Given the description of an element on the screen output the (x, y) to click on. 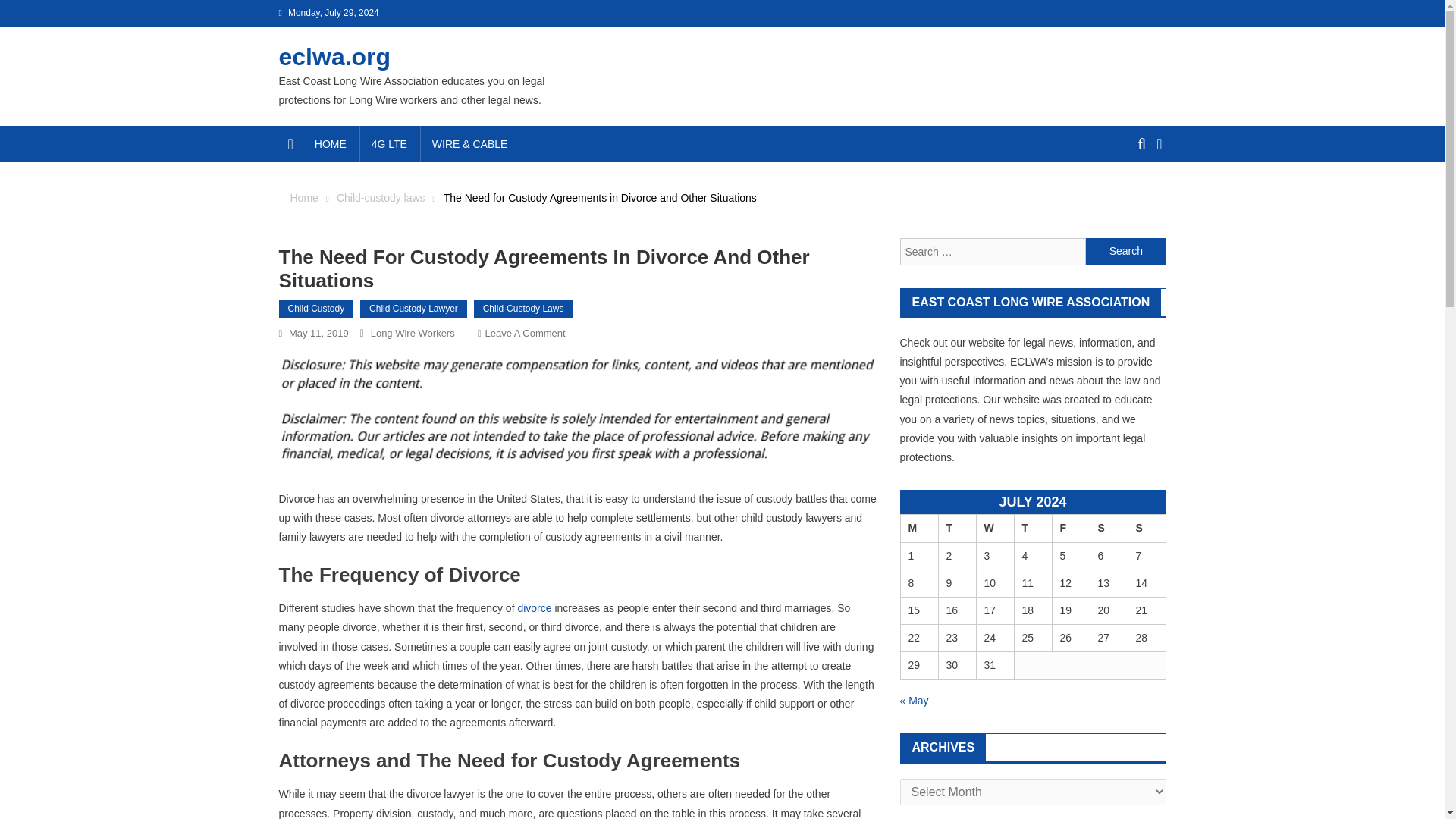
Search (1126, 251)
Search (1126, 251)
Child Custody Lawyer (413, 309)
Thursday (1032, 528)
Saturday (1107, 528)
Child Custody (316, 309)
eclwa.org (335, 56)
divorce (533, 607)
Wednesday (994, 528)
May 11, 2019 (318, 333)
4G LTE (389, 144)
Tuesday (956, 528)
Sunday (1146, 528)
Search (1133, 198)
